Given the description of an element on the screen output the (x, y) to click on. 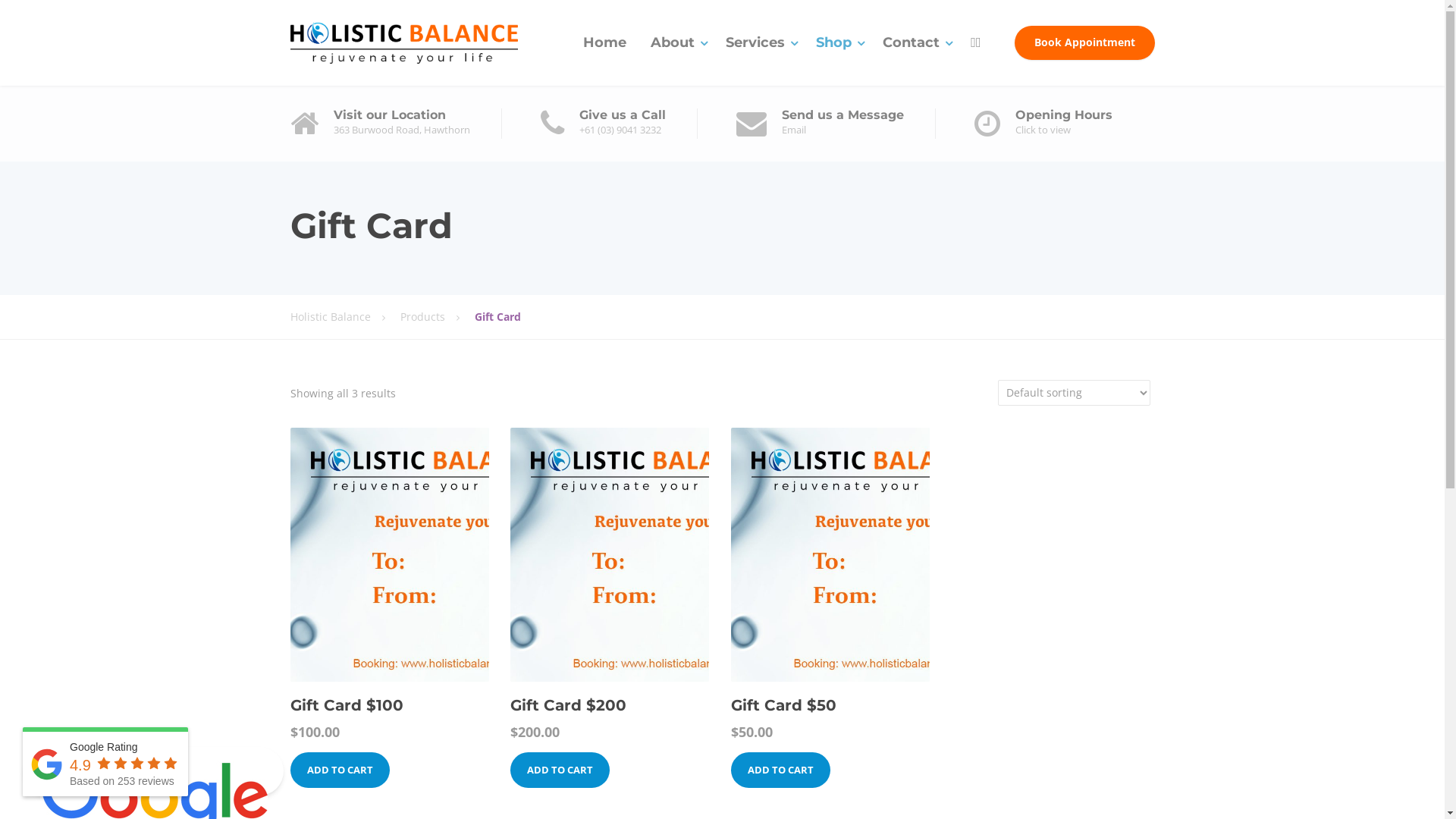
Gift Card $200
$200.00 Element type: text (609, 601)
ADD TO CART Element type: text (559, 769)
About Element type: text (676, 42)
Home Element type: text (604, 42)
ADD TO CART Element type: text (339, 769)
Contact Element type: text (914, 42)
Holistic Balance Element type: text (344, 316)
Services Element type: text (758, 42)
Products Element type: text (437, 316)
Gift Card $100
$100.00 Element type: text (388, 601)
Shop Element type: text (837, 42)
ADD TO CART Element type: text (780, 769)
Book Appointment Element type: text (1084, 42)
Gift Card $50
$50.00 Element type: text (830, 601)
Holistic Balance Element type: hover (403, 42)
